Given the description of an element on the screen output the (x, y) to click on. 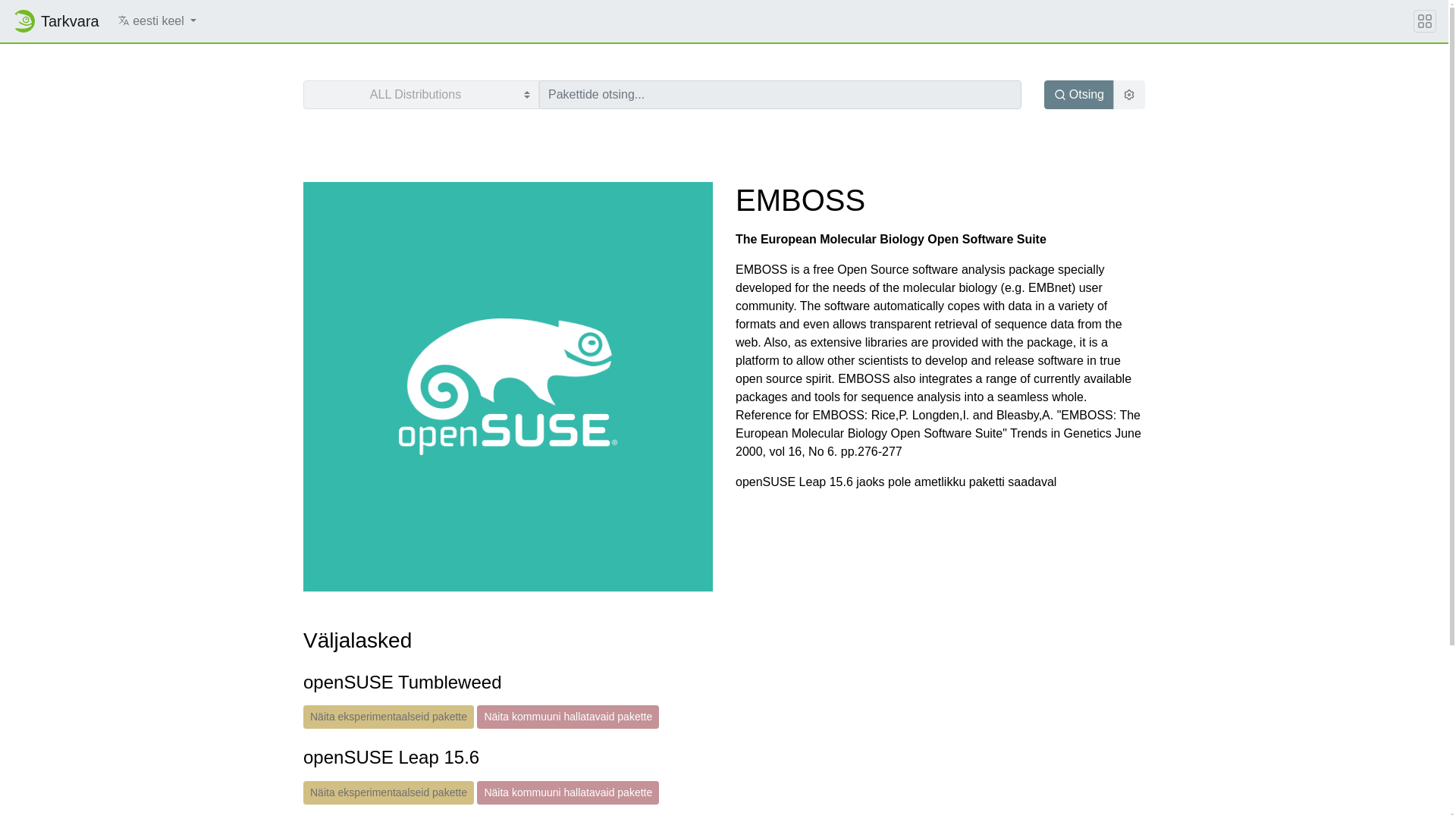
Screenshot of EMBOSS (507, 385)
Expand Megamenu (1424, 20)
Tarkvara (55, 20)
Choose Locale (123, 20)
openSUSE (22, 20)
Choose Locale eesti keel (157, 20)
